Given the description of an element on the screen output the (x, y) to click on. 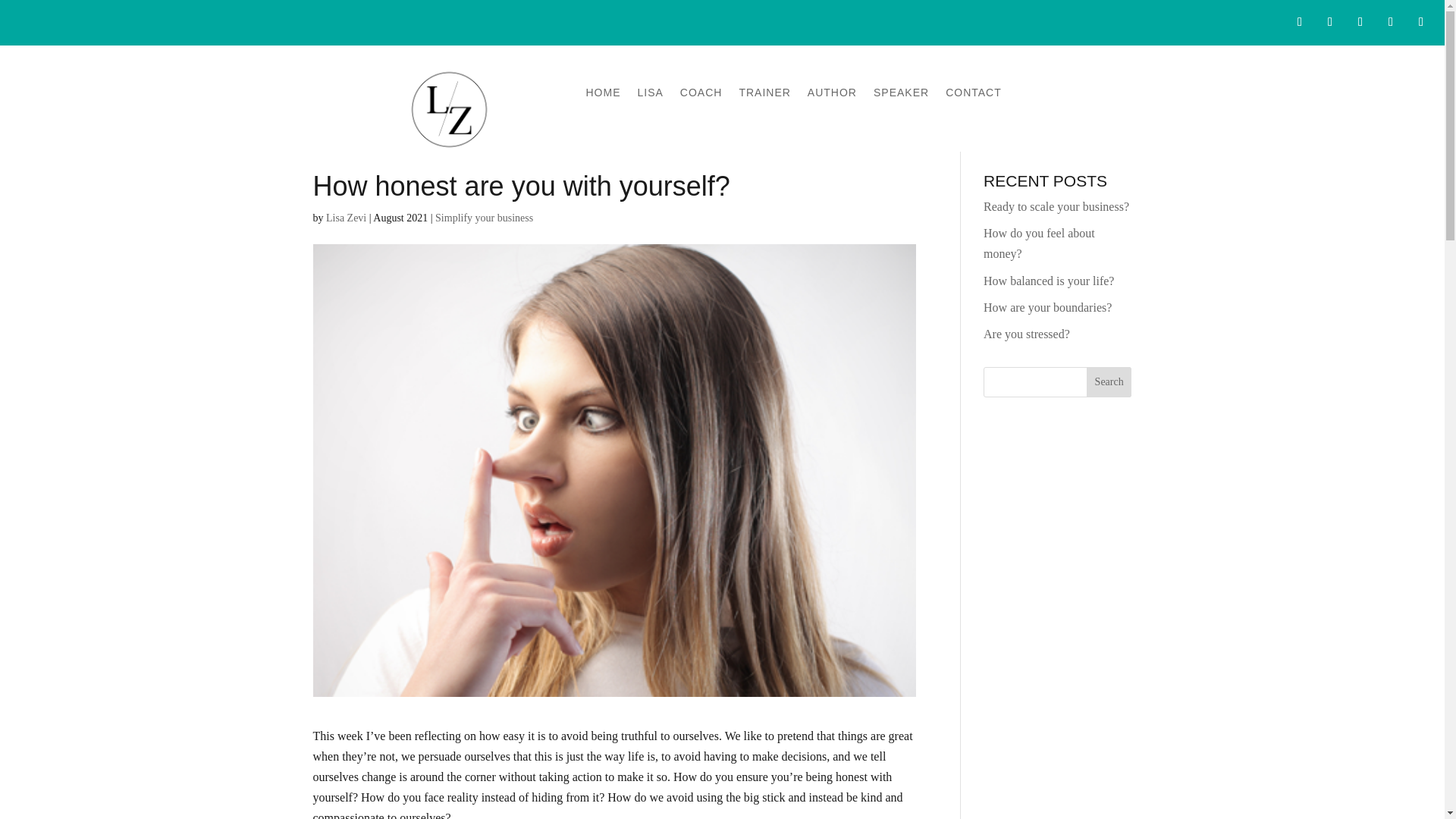
LISA (649, 95)
Lisa Zevi (346, 217)
TRAINER (764, 95)
Simplify your business (483, 217)
How balanced is your life? (1048, 280)
SPEAKER (900, 95)
Follow on LinkedIn (1390, 21)
How do you feel about money? (1039, 243)
Follow on Youtube (1420, 21)
Follow on Instagram (1360, 21)
AUTHOR (832, 95)
HOME (602, 95)
CONTACT (972, 95)
Are you stressed? (1027, 333)
COACH (700, 95)
